Given the description of an element on the screen output the (x, y) to click on. 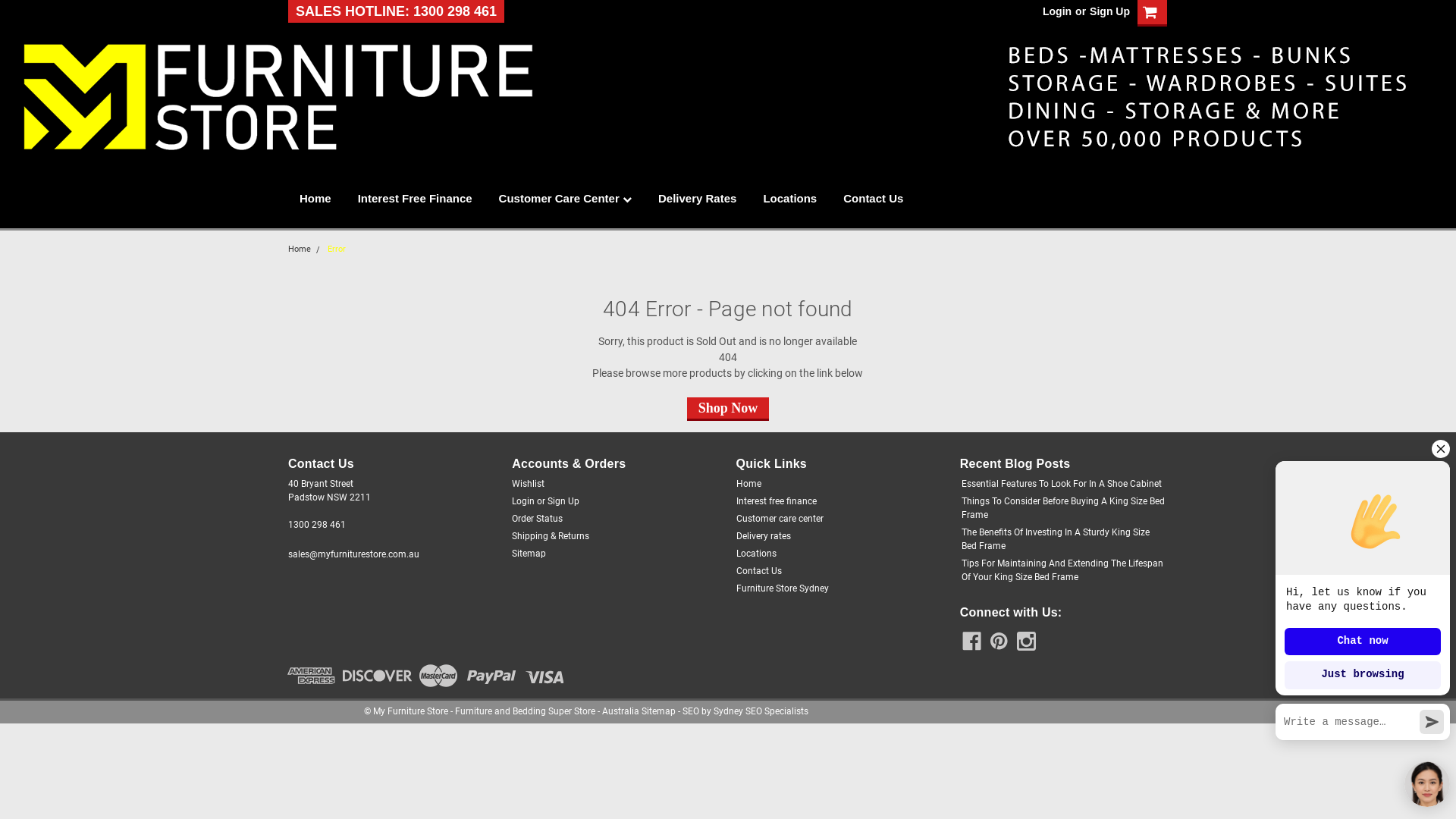
Shipping & Returns Element type: text (550, 535)
Delivery rates Element type: text (762, 535)
Home Element type: text (299, 249)
Customer care center Element type: text (778, 518)
Furniture Store Sydney Element type: text (781, 588)
Sitemap Element type: text (658, 711)
Contact Us Element type: text (886, 198)
Order Status Element type: text (536, 518)
Sydney SEO Specialists Element type: text (760, 711)
Customer Care Center Element type: text (578, 198)
Login Element type: text (1056, 11)
Things To Consider Before Buying A King Size Bed Frame Element type: text (1063, 507)
1300 298 461 Element type: text (316, 524)
Wishlist Element type: text (527, 483)
Interest Free Finance Element type: text (427, 198)
Locations Element type: text (755, 553)
Delivery Rates Element type: text (710, 198)
sales@myfurniturestore.com.au Element type: text (353, 554)
The Benefits Of Investing In A Sturdy King Size Bed Frame Element type: text (1063, 538)
Interest free finance Element type: text (775, 501)
Locations Element type: text (802, 198)
Essential Features To Look For In A Shoe Cabinet Element type: text (1061, 483)
SALES HOTLINE: 1300 298 461 Element type: text (395, 10)
Error Element type: text (336, 249)
Sign Up Element type: text (1107, 11)
Sitemap Element type: text (528, 553)
Sign Up Element type: text (563, 501)
Contact Us Element type: text (758, 570)
Home Element type: text (747, 483)
40 Bryant Street
Padstow NSW 2211 Element type: text (329, 490)
Shop Now Element type: text (728, 407)
Login Element type: text (522, 501)
Home Element type: text (328, 198)
